Given the description of an element on the screen output the (x, y) to click on. 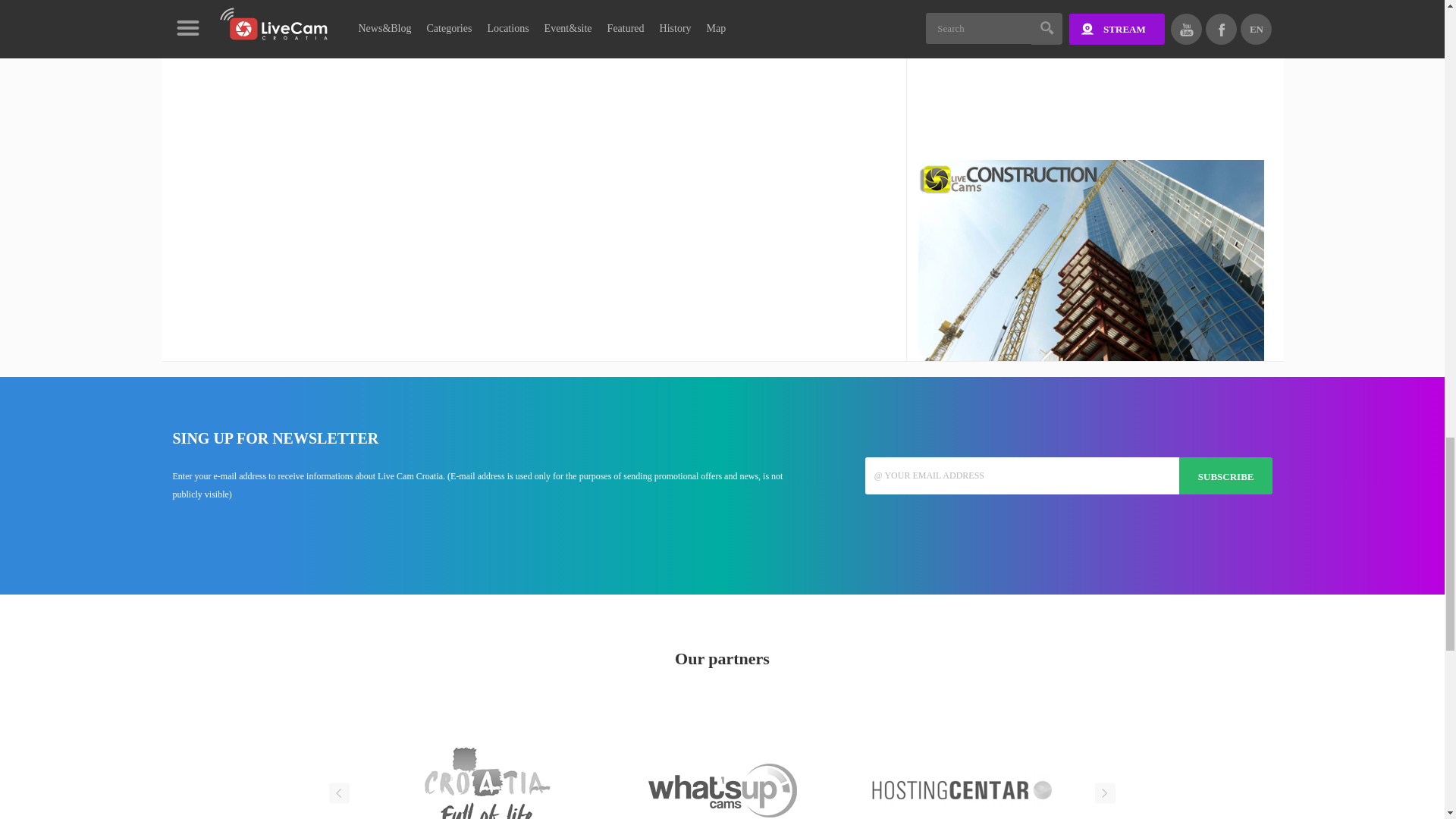
Advertisement (1091, 79)
